Given the description of an element on the screen output the (x, y) to click on. 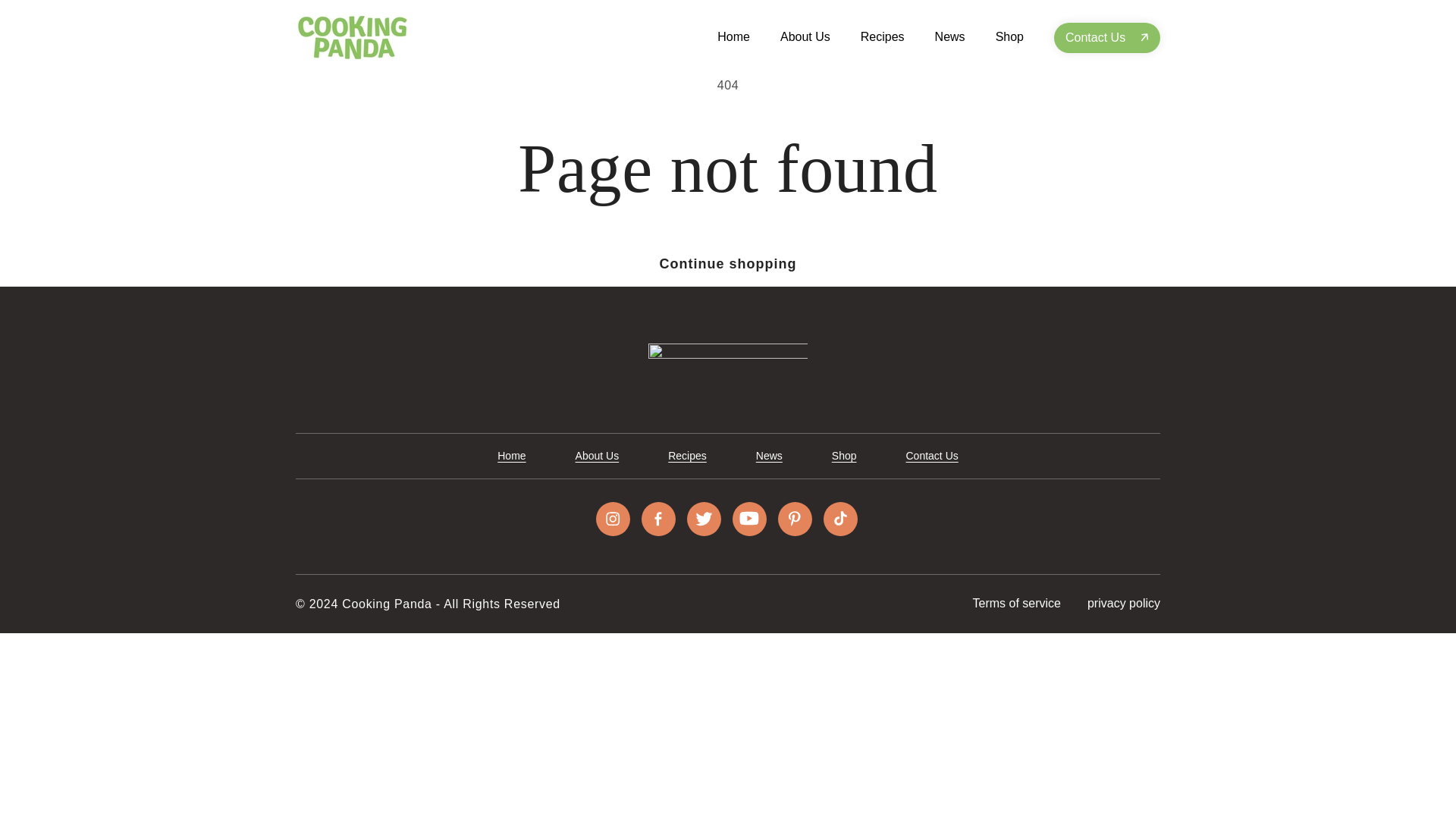
Pinterest (794, 519)
Skip to content (45, 22)
TikTok (840, 519)
Home (511, 456)
Recipes (687, 456)
Twitter (703, 519)
Continue shopping (727, 263)
About Us (805, 36)
Shop (844, 456)
Shop (1009, 36)
